Given the description of an element on the screen output the (x, y) to click on. 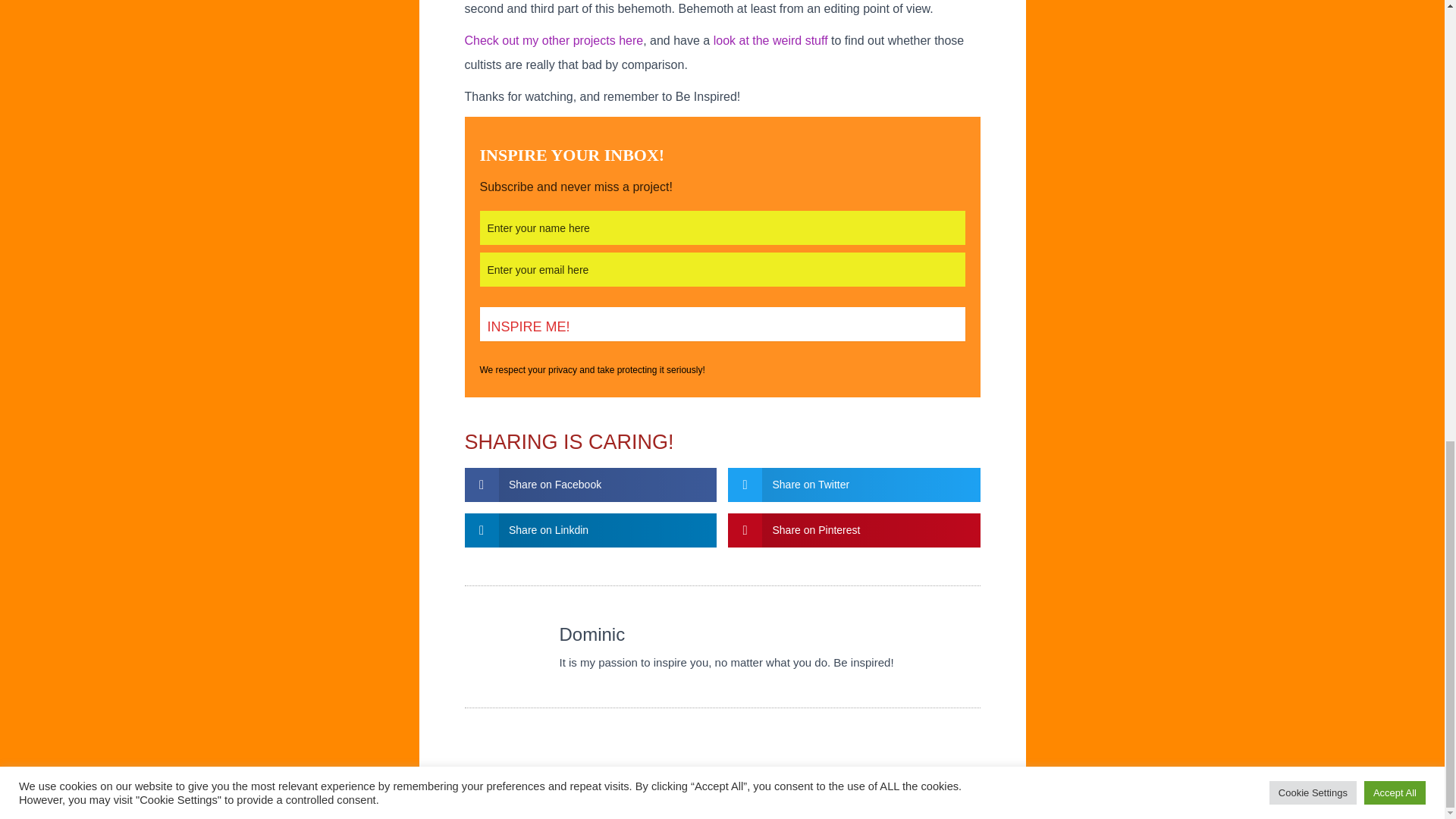
Check out my other projects here (553, 40)
Inspire me! (721, 324)
Inspire me! (721, 324)
look at the weird stuff (770, 40)
Mastodon (23, 784)
